Given the description of an element on the screen output the (x, y) to click on. 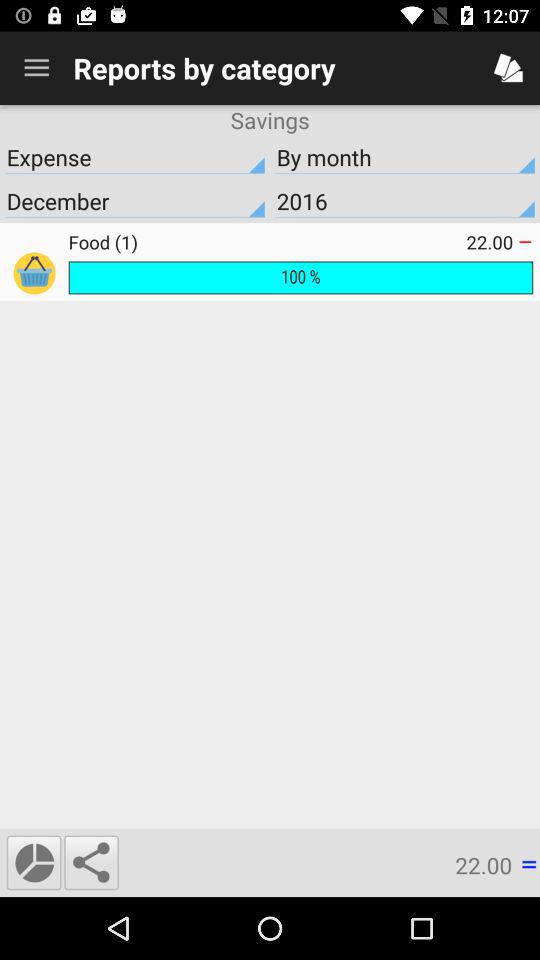
open the item below expense (405, 201)
